Given the description of an element on the screen output the (x, y) to click on. 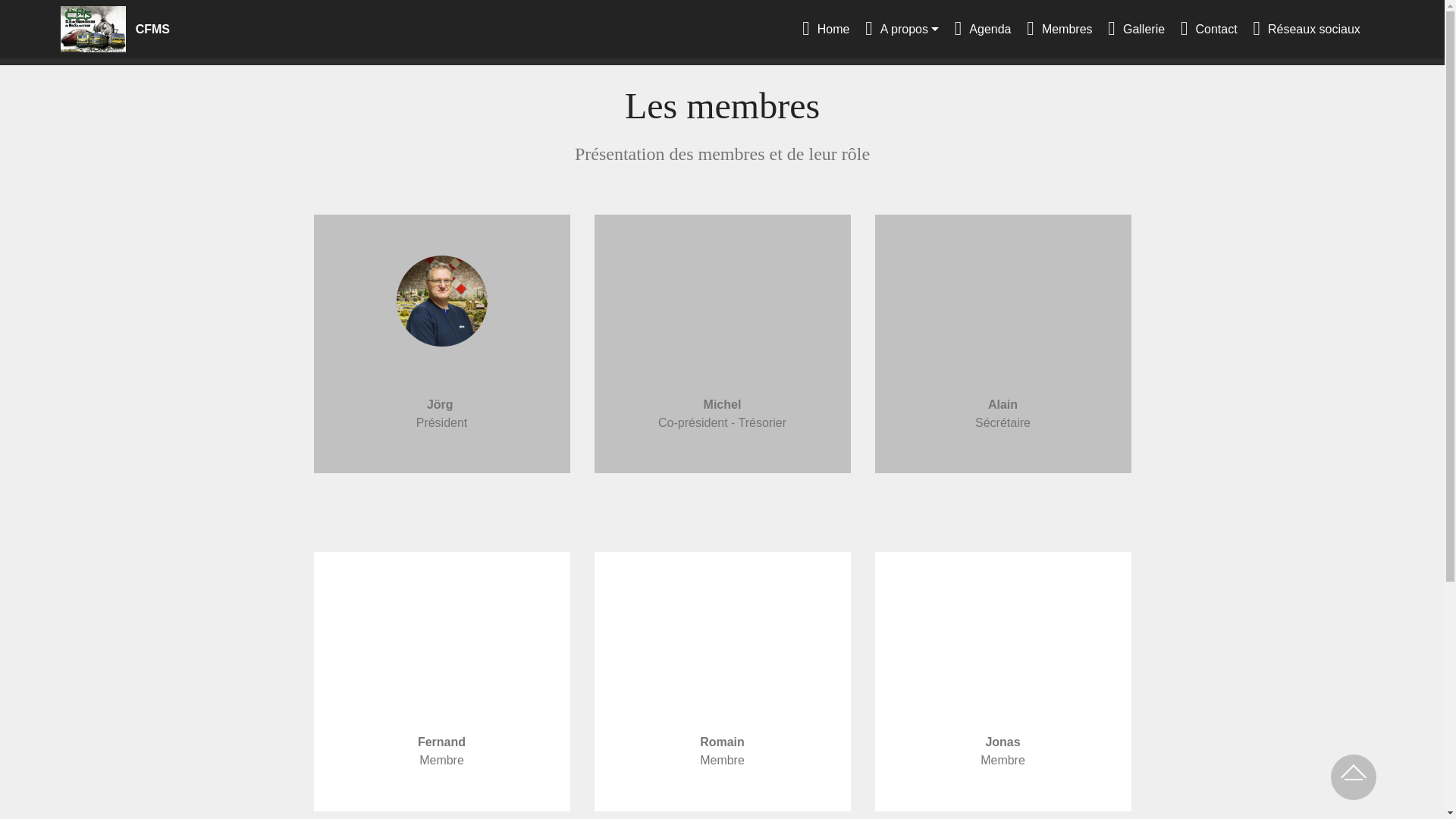
Contact Element type: text (1208, 28)
Membres Element type: text (1059, 28)
Gallerie Element type: text (1135, 28)
A propos Element type: text (901, 28)
CFMS Element type: text (164, 28)
Home Element type: text (825, 28)
Agenda Element type: text (982, 28)
